Given the description of an element on the screen output the (x, y) to click on. 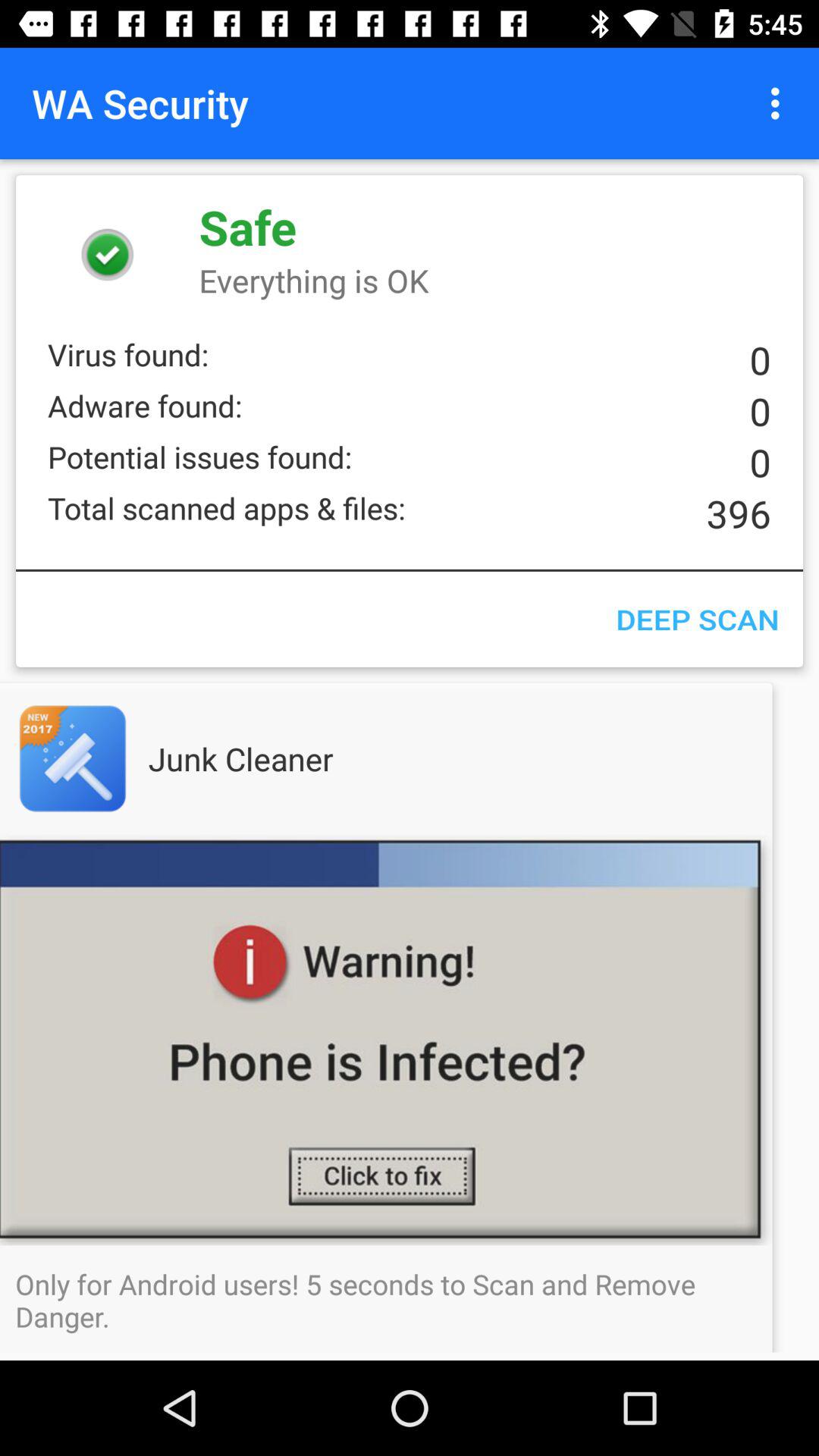
scroll to junk cleaner icon (271, 758)
